Given the description of an element on the screen output the (x, y) to click on. 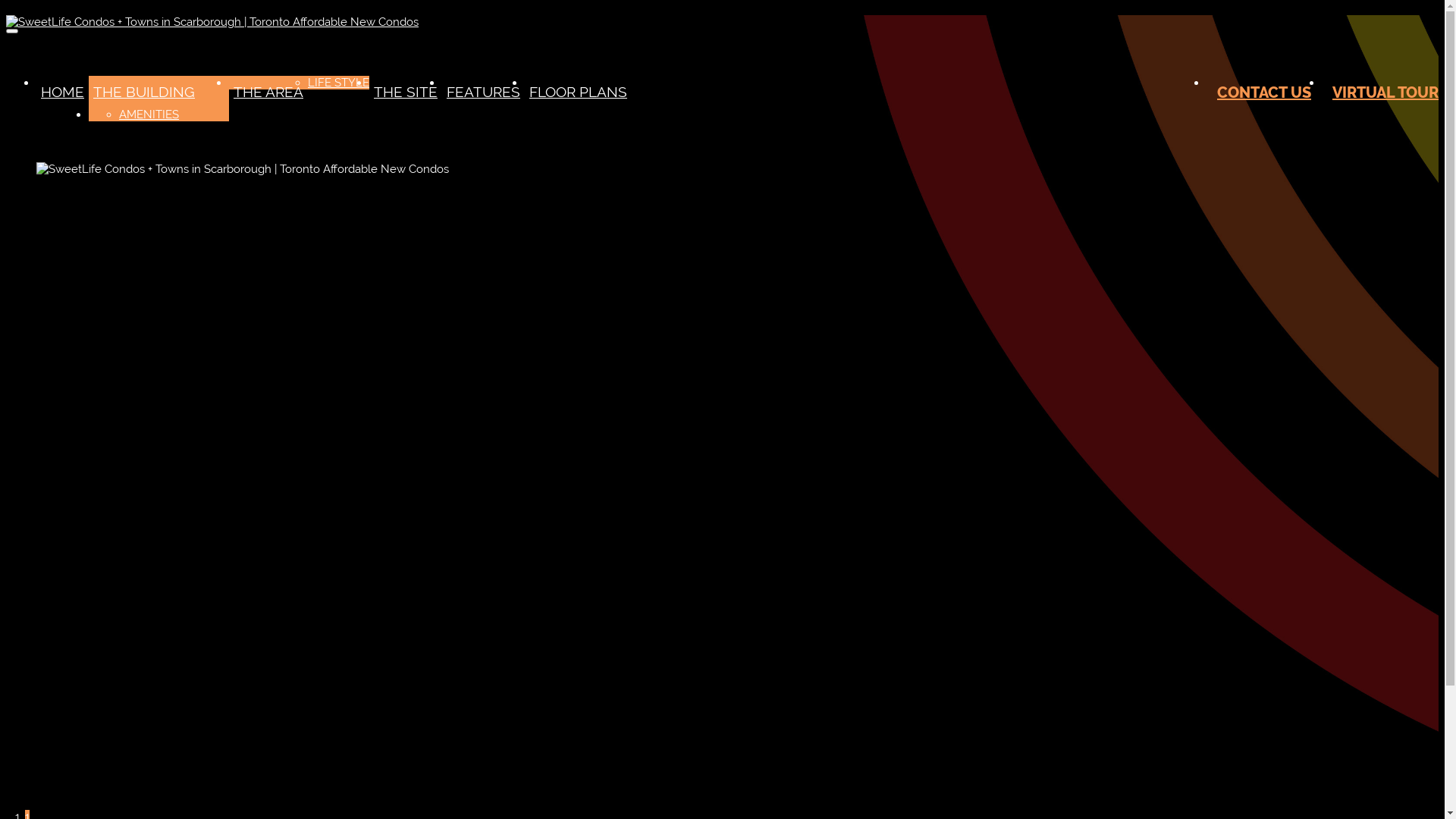
VIRTUAL TOUR Element type: text (1379, 92)
FLOOR PLANS Element type: text (575, 91)
AMENITIES Element type: text (148, 114)
SweetLife Condos Element type: hover (212, 21)
LIFE STYLE Element type: text (338, 82)
HOME Element type: text (62, 91)
THE AREA Element type: text (268, 91)
FEATURES Element type: text (483, 91)
THE BUILDING Element type: text (143, 91)
CONTACT US Element type: text (1263, 92)
THE SITE Element type: text (405, 91)
